Given the description of an element on the screen output the (x, y) to click on. 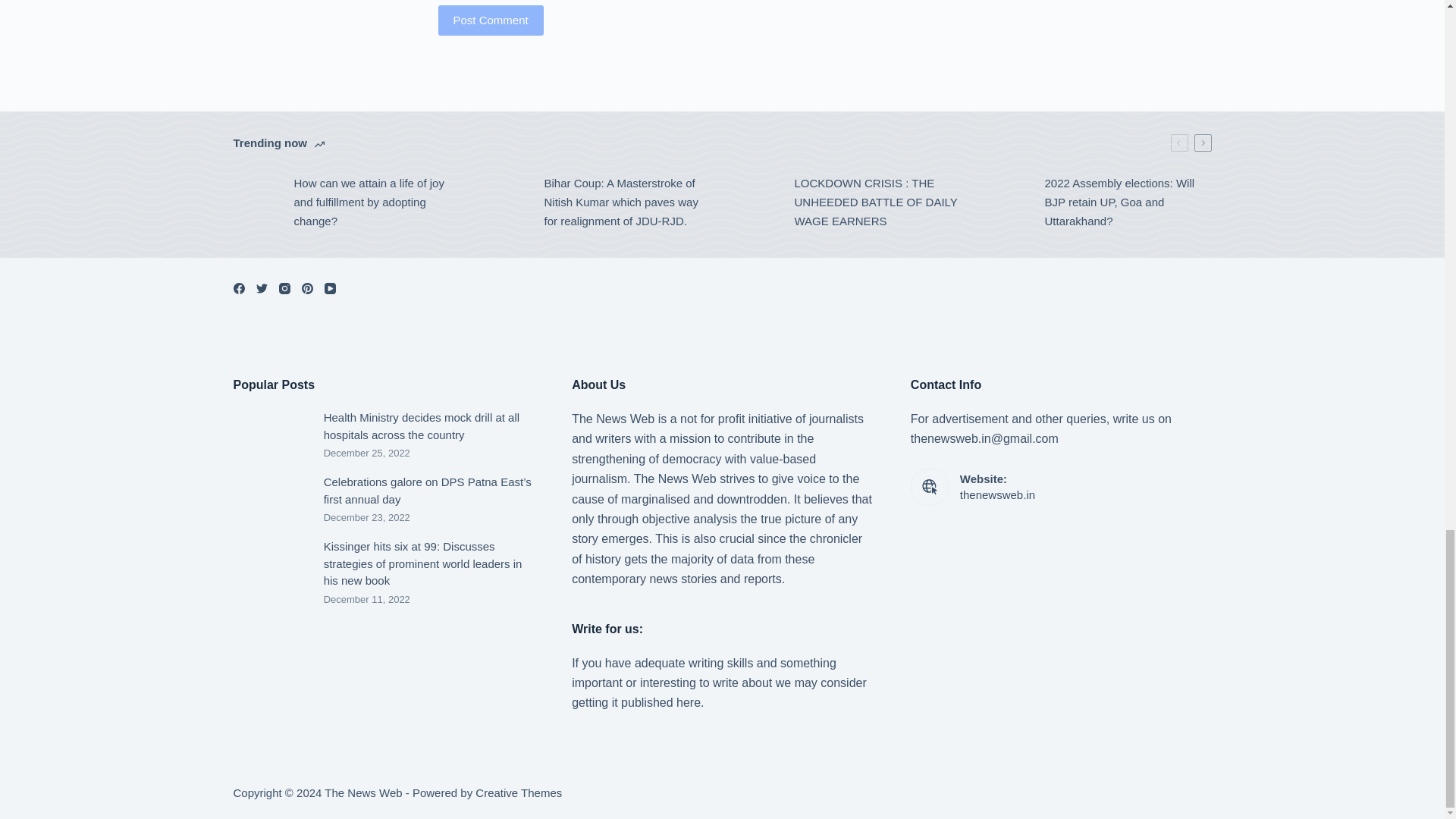
thenewsweb.in (997, 494)
Post Comment (490, 20)
LOCKDOWN CRISIS : THE UNHEEDED BATTLE OF DAILY WAGE EARNERS (846, 202)
